Given the description of an element on the screen output the (x, y) to click on. 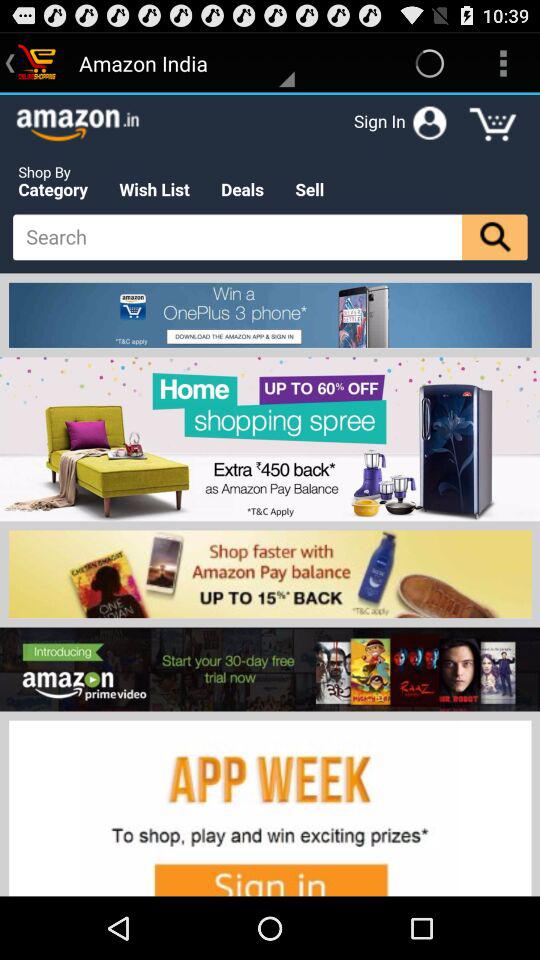
advertisement link (270, 495)
